Given the description of an element on the screen output the (x, y) to click on. 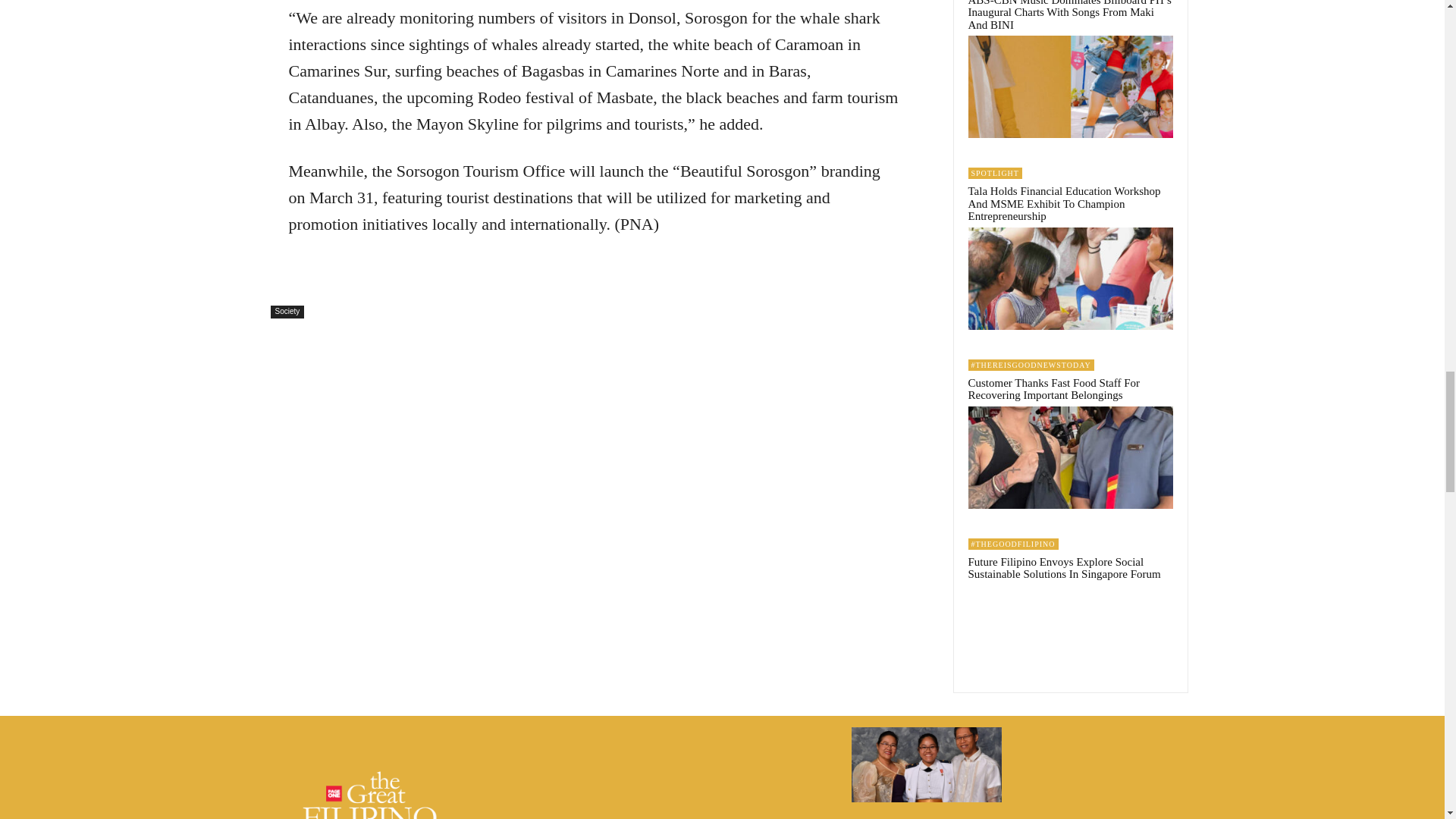
Society (286, 311)
